Given the description of an element on the screen output the (x, y) to click on. 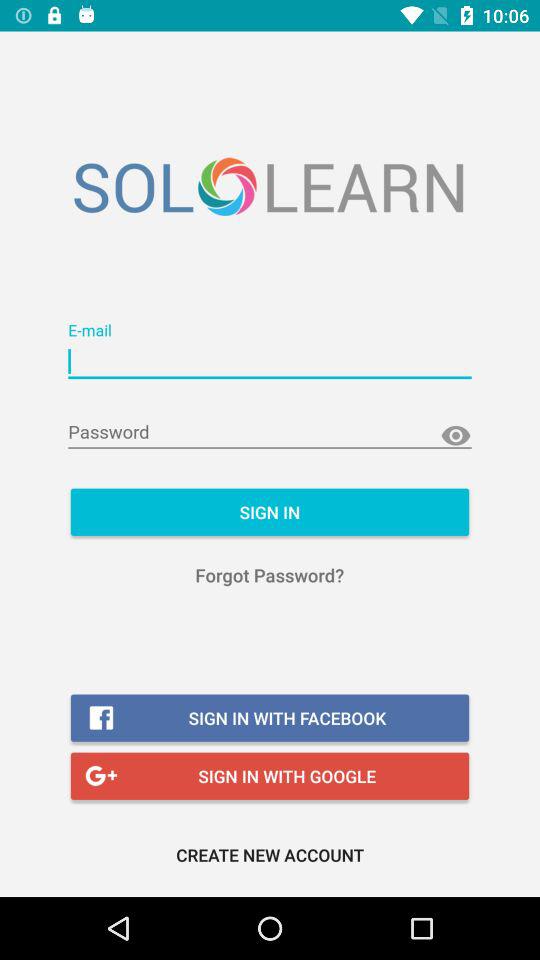
press the icon above the sign in with icon (269, 574)
